Given the description of an element on the screen output the (x, y) to click on. 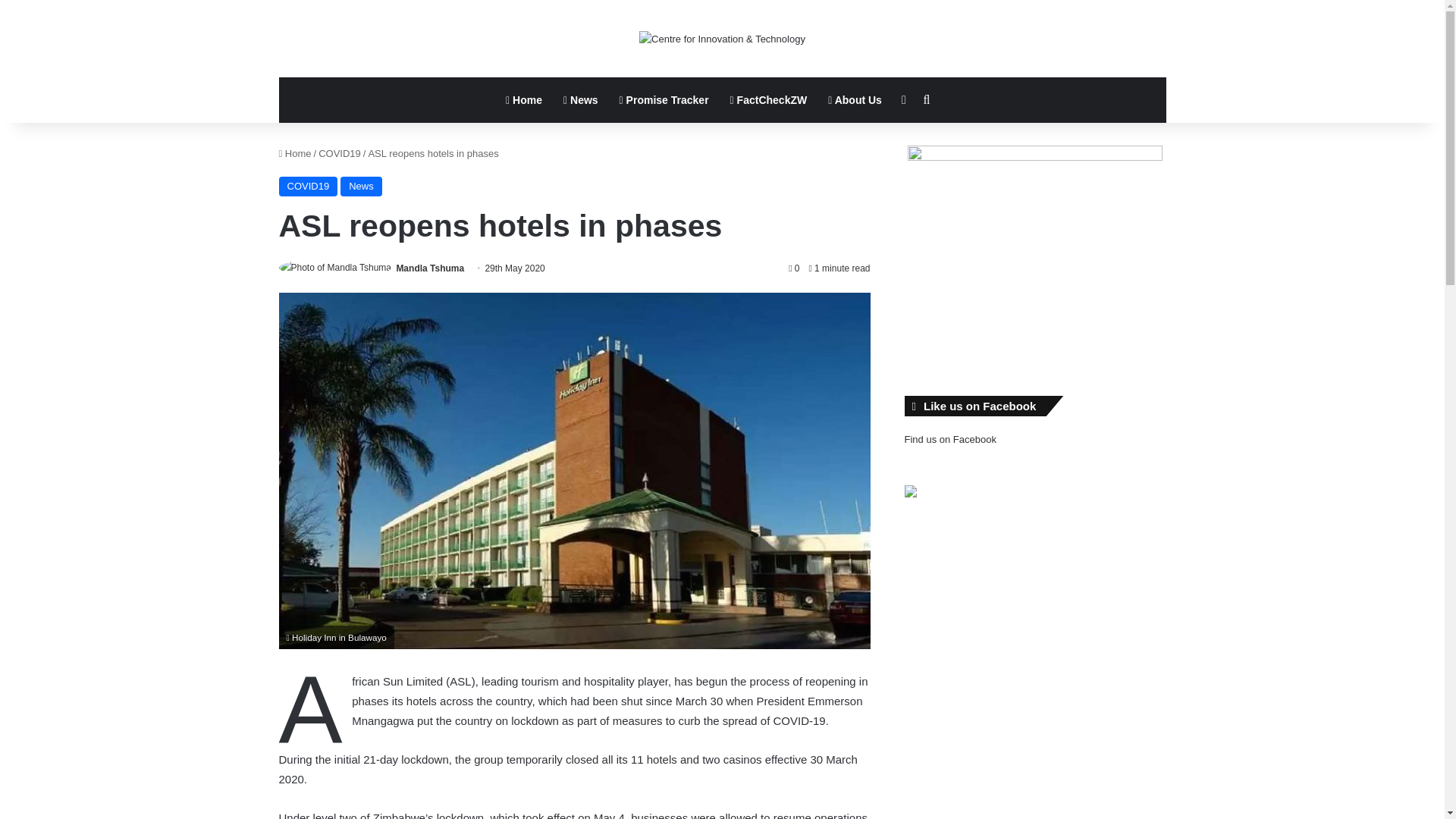
Promise Tracker (663, 99)
News (360, 186)
Mandla Tshuma (430, 267)
News (580, 99)
FactCheckZW (768, 99)
COVID19 (308, 186)
COVID19 (339, 153)
Mandla Tshuma (430, 267)
Home (295, 153)
About Us (854, 99)
